Given the description of an element on the screen output the (x, y) to click on. 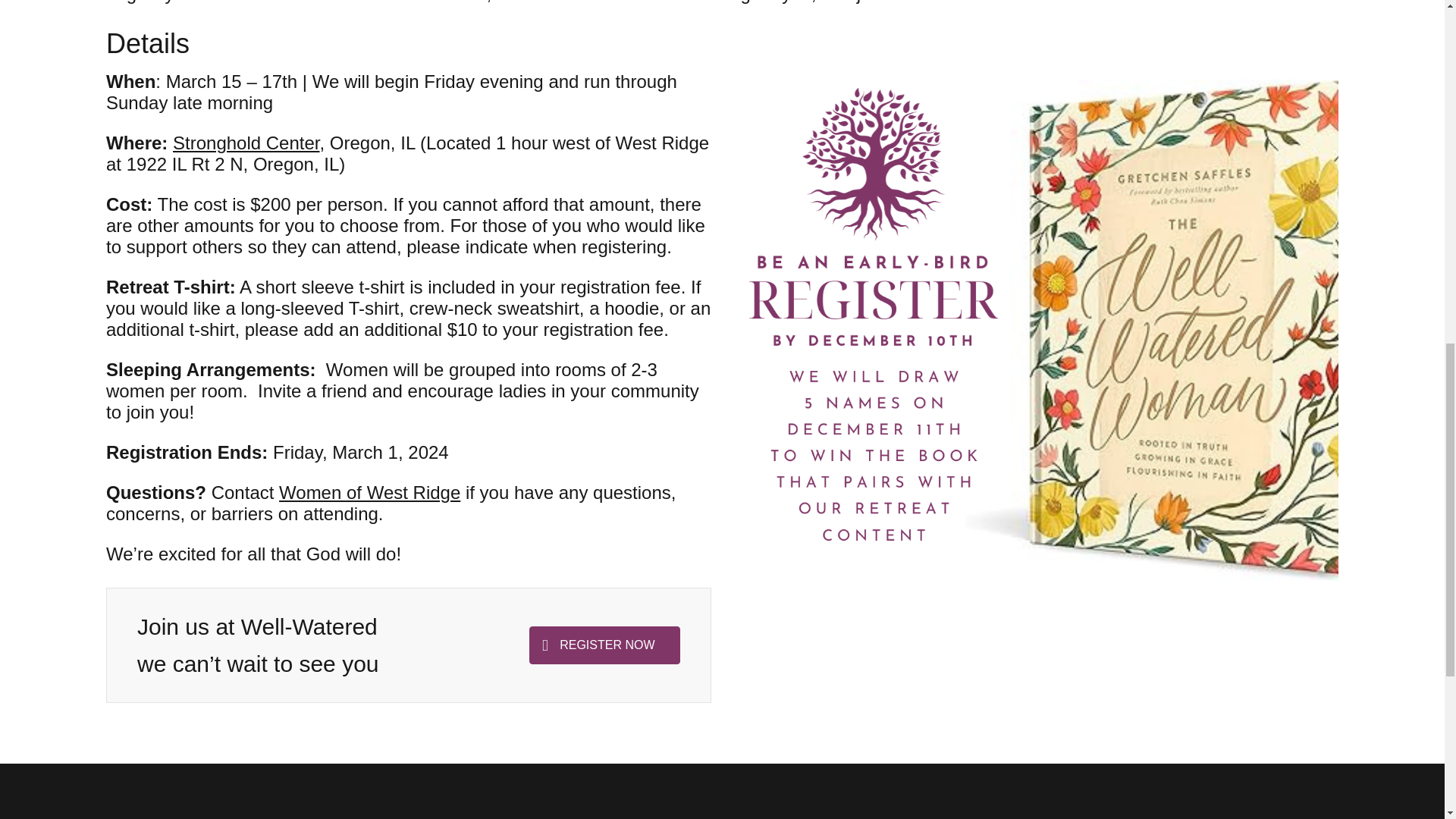
REGISTER NOW (604, 645)
Women of West Ridge (369, 492)
Stronghold Center (245, 142)
